Given the description of an element on the screen output the (x, y) to click on. 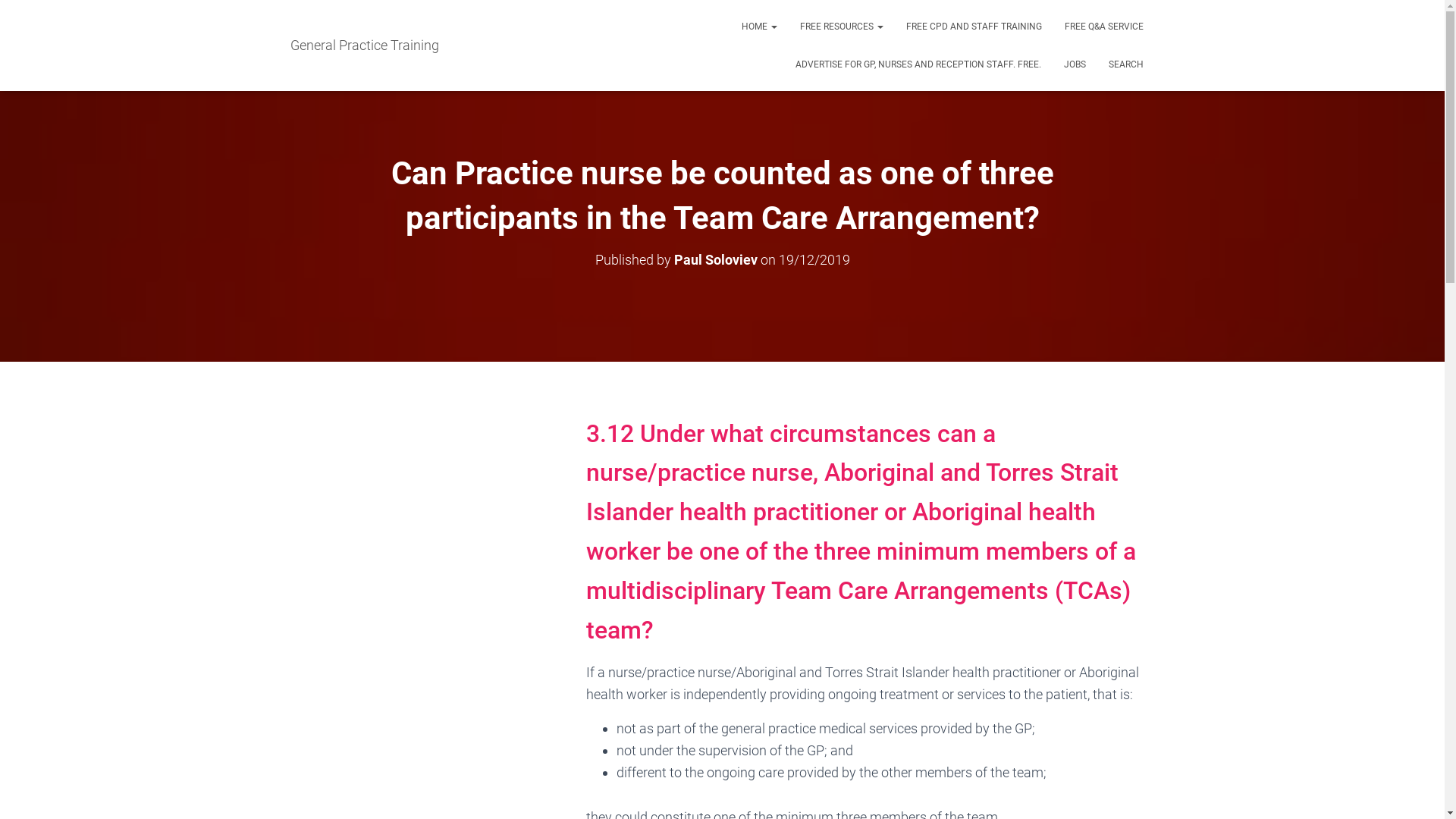
ADVERTISE FOR GP, NURSES AND RECEPTION STAFF. FREE. Element type: text (918, 64)
General Practice Training Element type: text (364, 45)
FREE CPD AND STAFF TRAINING Element type: text (973, 26)
JOBS Element type: text (1074, 64)
FREE Q&A SERVICE Element type: text (1103, 26)
Paul Soloviev Element type: text (714, 259)
FREE RESOURCES Element type: text (841, 26)
SEARCH Element type: text (1125, 64)
HOME Element type: text (758, 26)
